Given the description of an element on the screen output the (x, y) to click on. 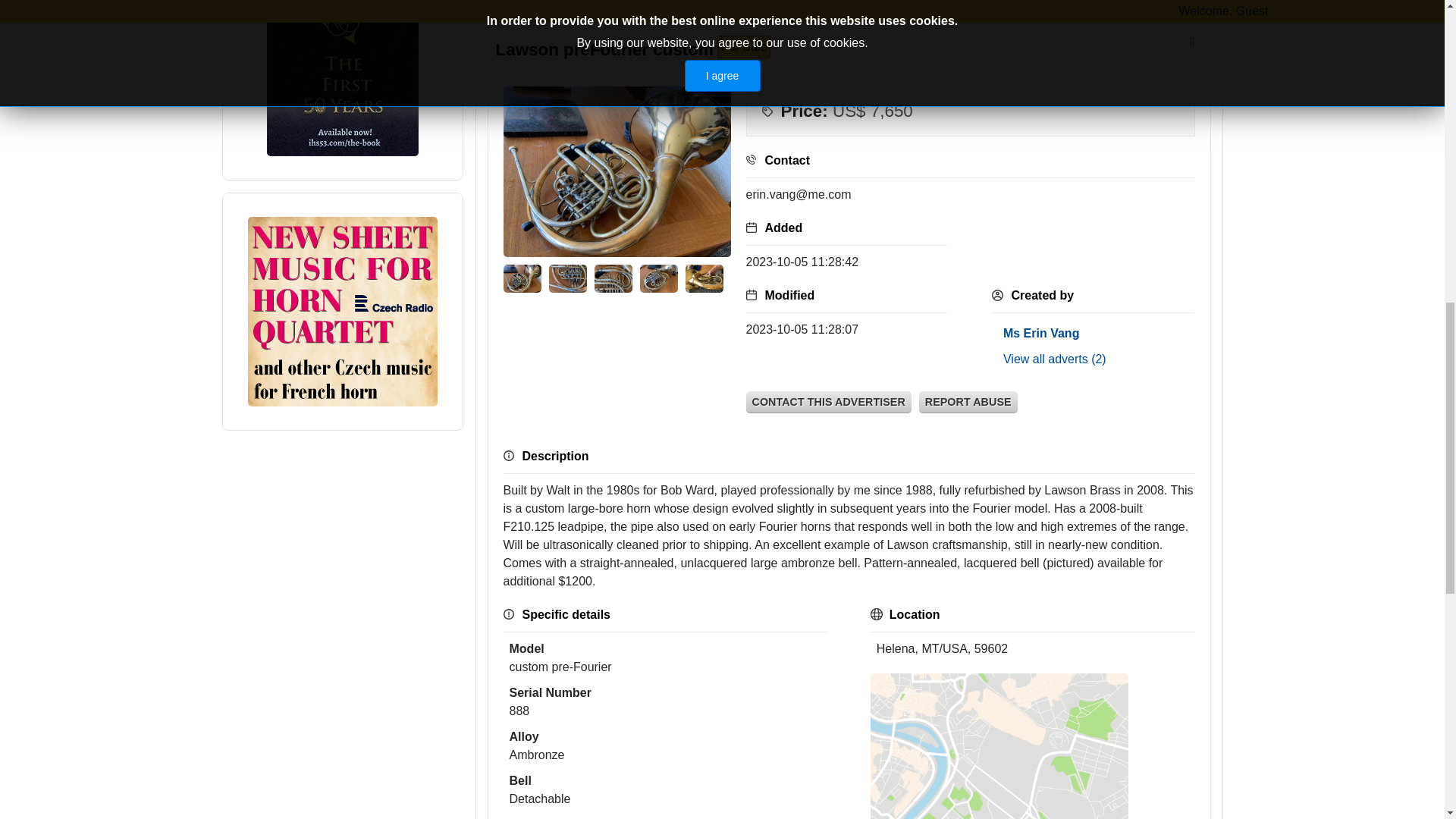
Czech Radio (341, 309)
first 50 ad - 2 (342, 56)
Print view (1193, 42)
Lawson preFourier custom (616, 175)
